Given the description of an element on the screen output the (x, y) to click on. 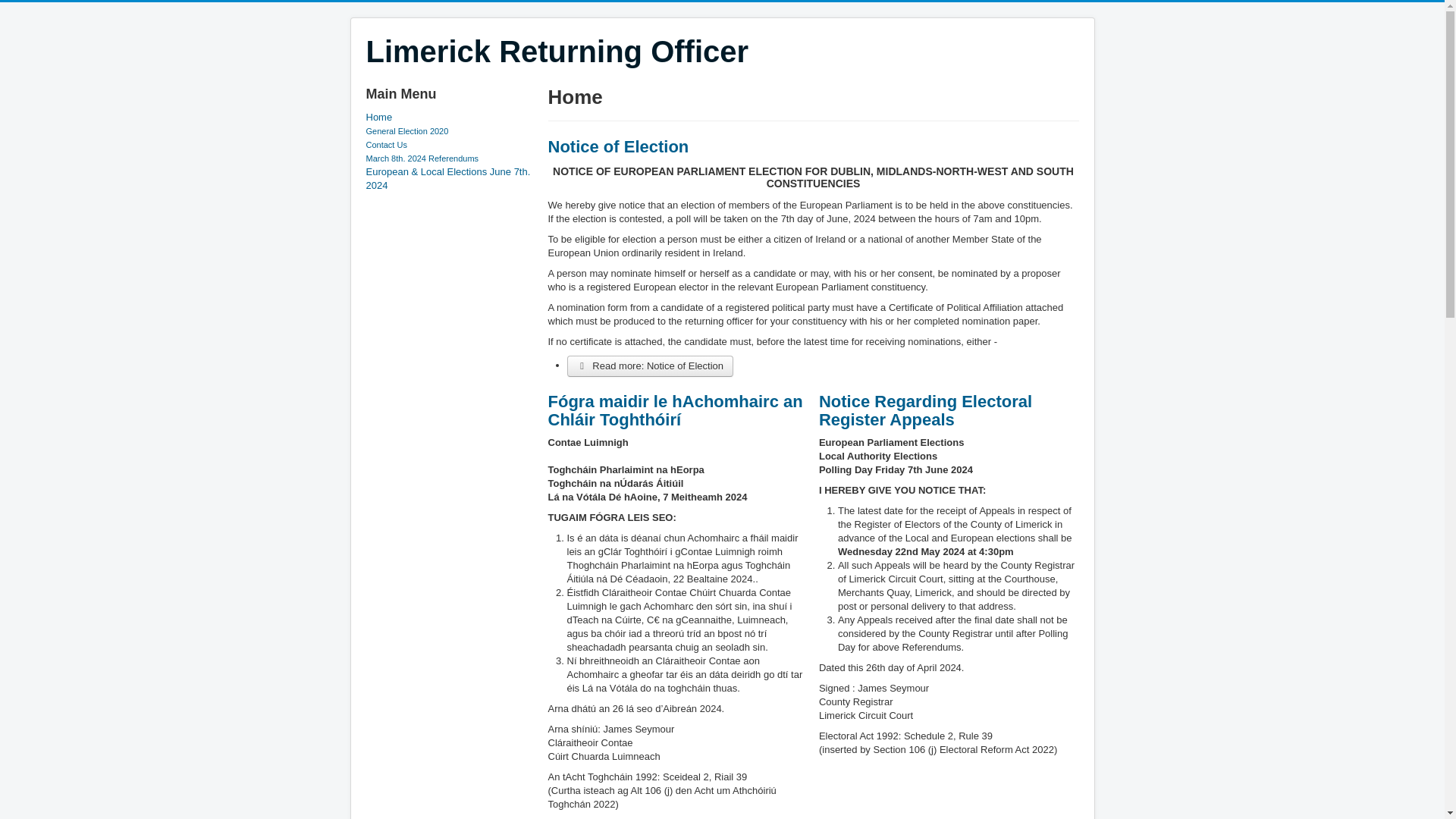
Read more: Notice of Election (650, 365)
Notice of Election (617, 146)
Notice Regarding Electoral Register Appeals (925, 410)
Limerick Returning Officer (556, 51)
General Election 2020 (406, 130)
Home (448, 117)
Contact Us (385, 144)
Limerick Returning Officer (556, 51)
March 8th. 2024 Referendums (422, 157)
